Given the description of an element on the screen output the (x, y) to click on. 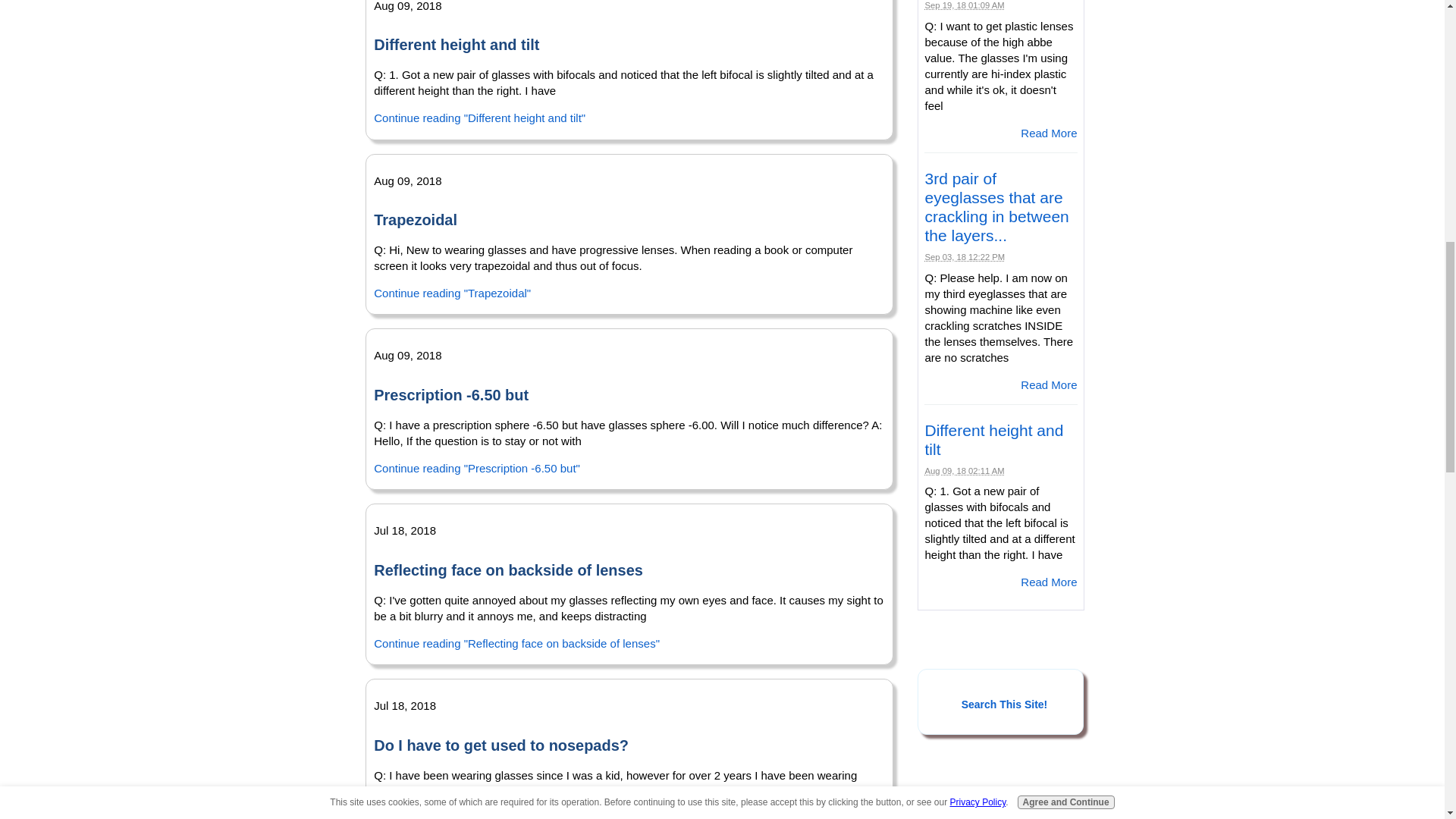
Continue reading "Trapezoidal" (452, 292)
2018-08-09T02:11:18-0400 (964, 470)
2018-09-19T01:09:32-0400 (964, 4)
Continue reading "Prescription -6.50 but" (476, 468)
Continue reading "Different height and tilt" (479, 117)
2018-09-03T12:22:08-0400 (964, 256)
